Given the description of an element on the screen output the (x, y) to click on. 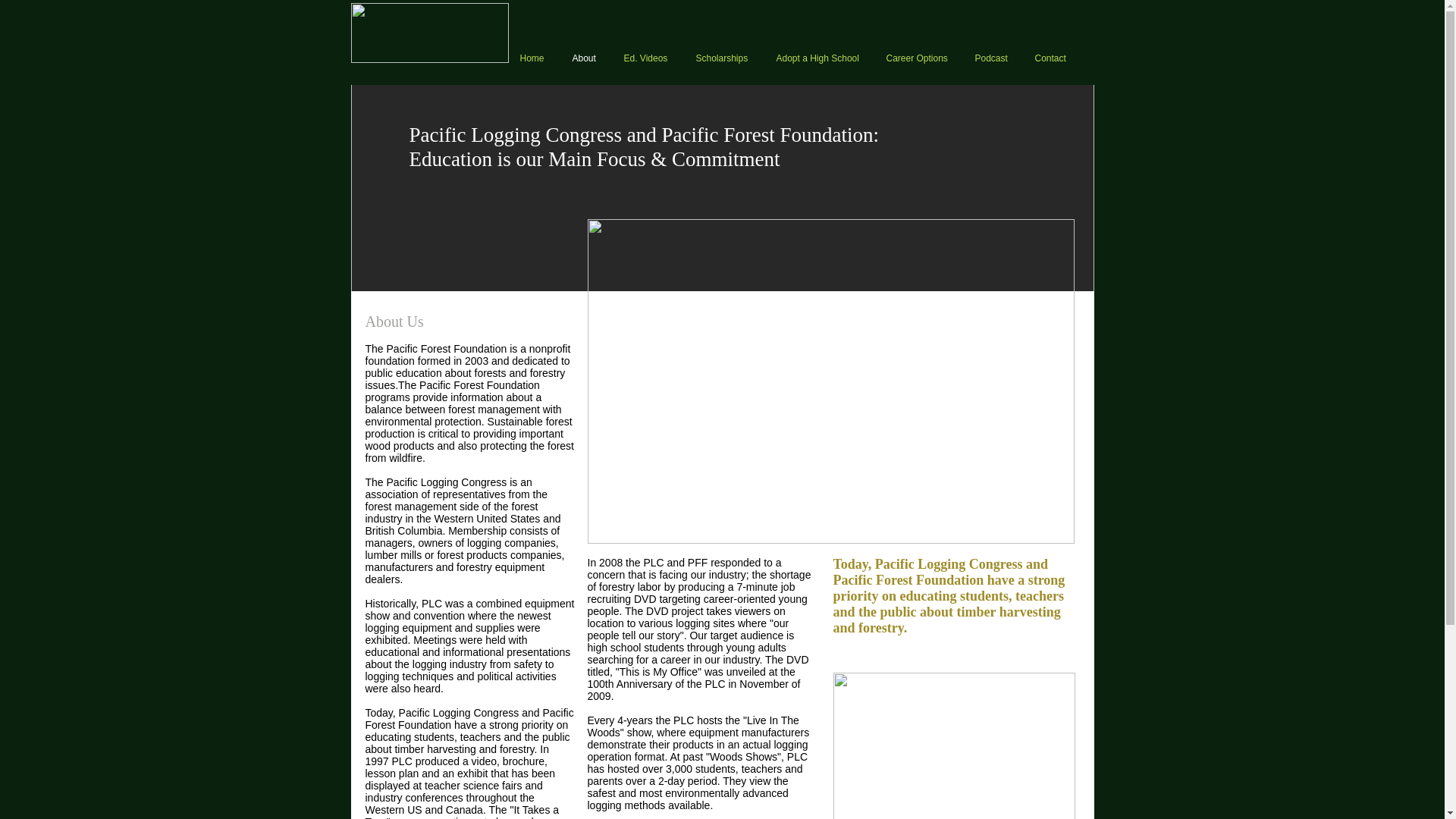
Podcast (992, 57)
Contact (1052, 57)
Adopt a High School (819, 57)
About (586, 57)
Ed. Videos (648, 57)
Home (534, 57)
